Given the description of an element on the screen output the (x, y) to click on. 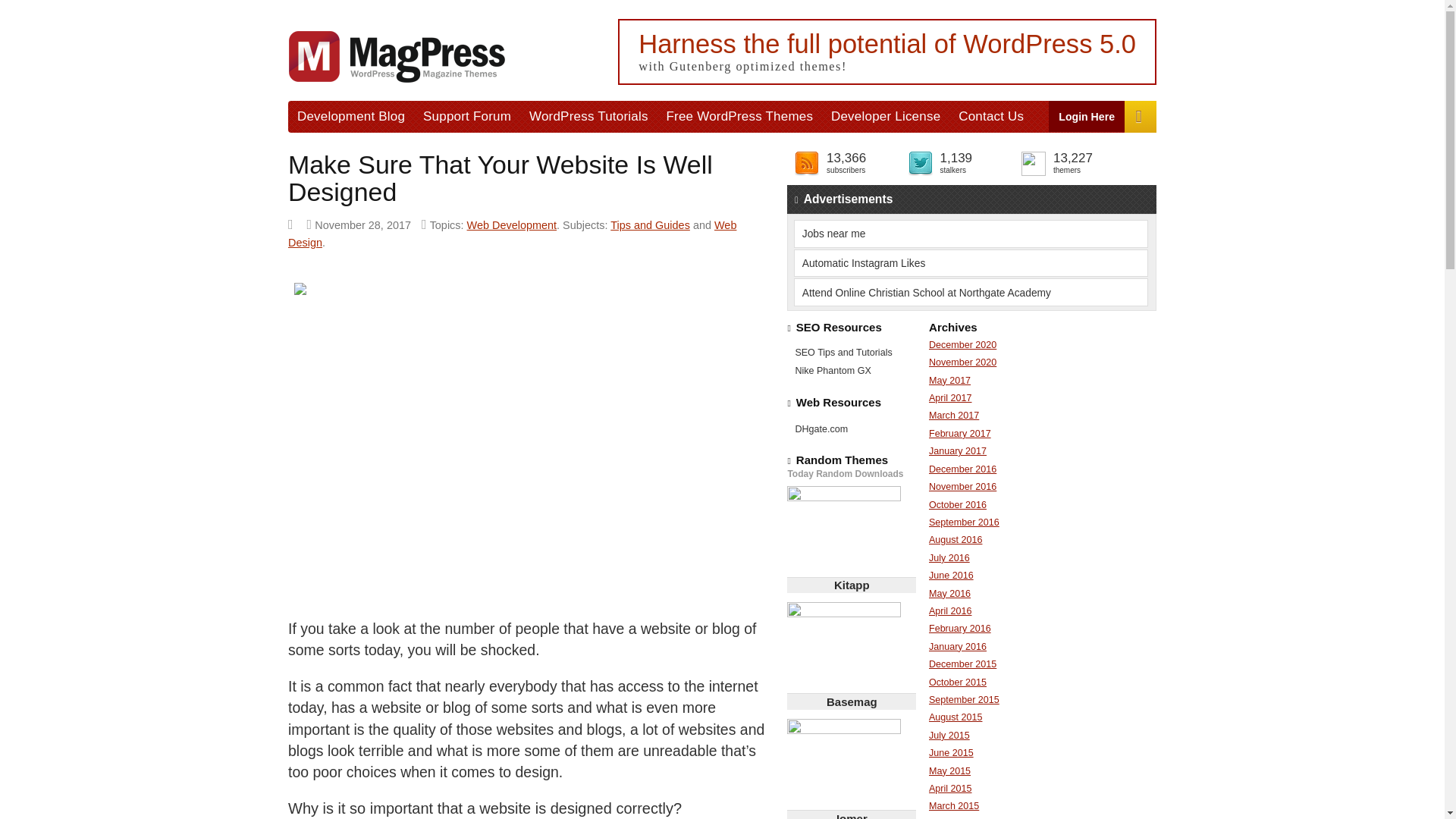
WordPress Tutorials (588, 115)
Web Development (512, 224)
are you ready to checkout? (1140, 116)
login to your account here (1086, 115)
Contact Us (990, 115)
Support Forum (466, 115)
1,139 (956, 157)
Purchase our developer license to remove theme credits (885, 115)
Development Blog (350, 115)
